Given the description of an element on the screen output the (x, y) to click on. 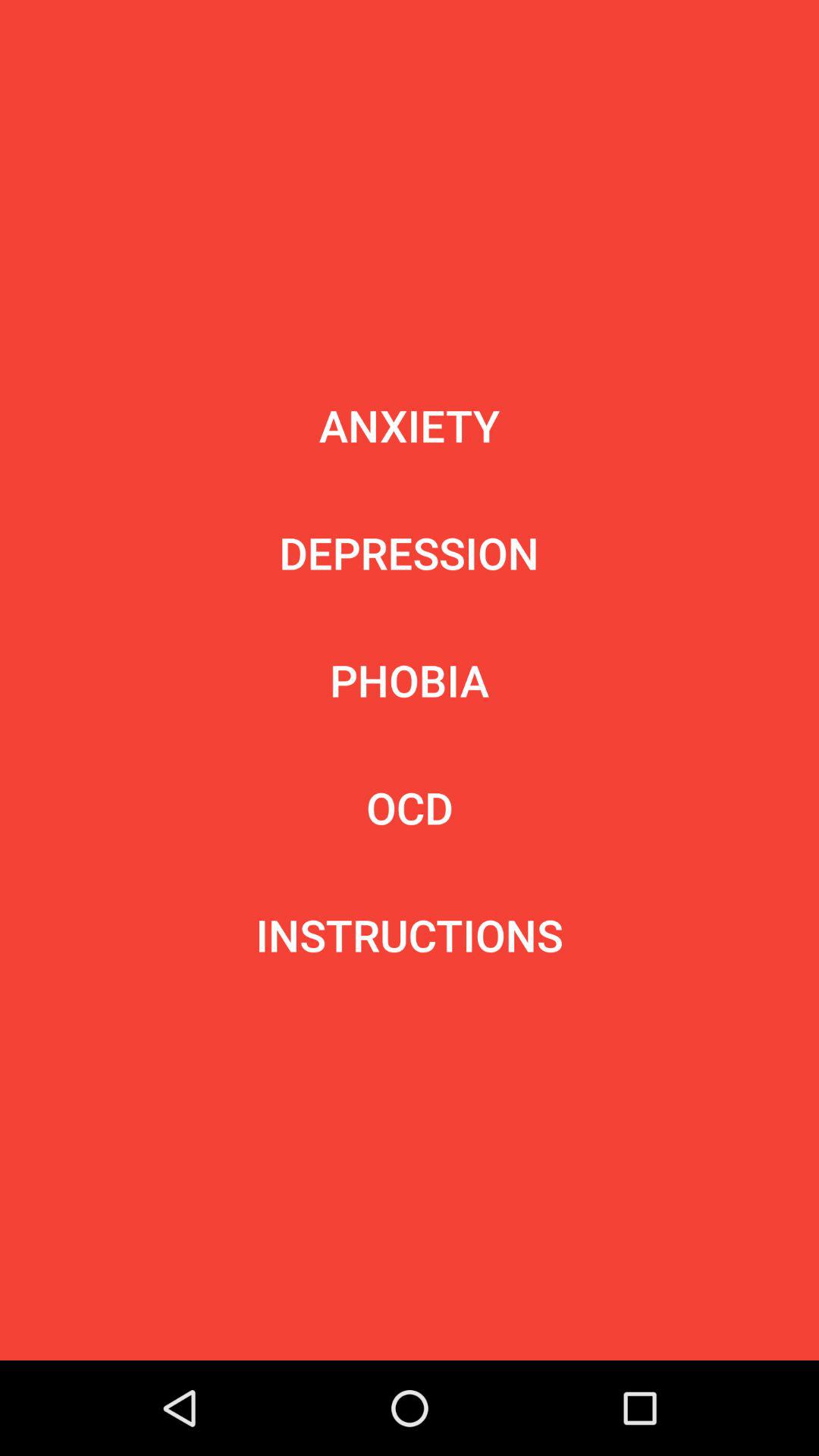
flip until the anxiety item (409, 425)
